Given the description of an element on the screen output the (x, y) to click on. 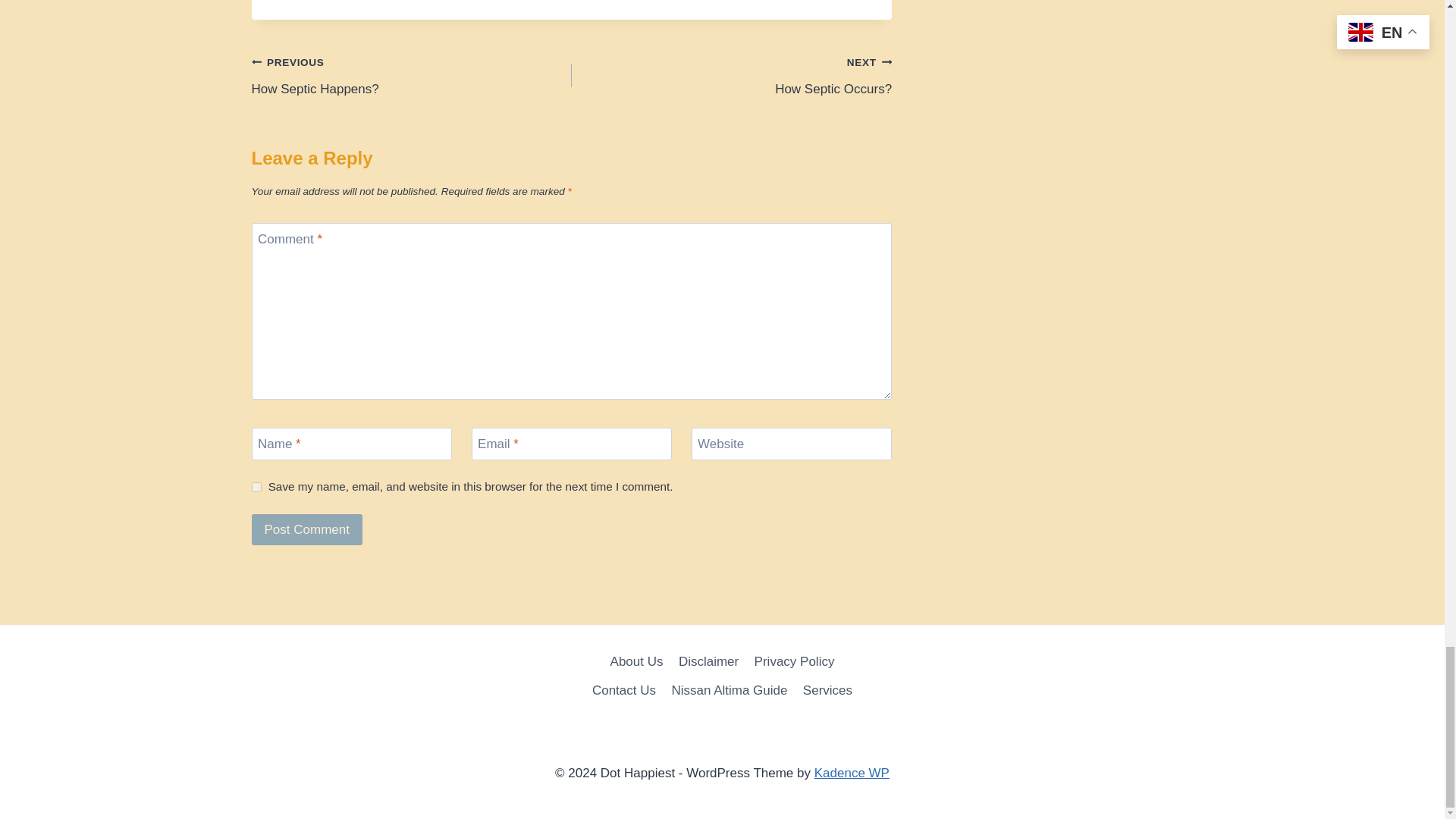
Post Comment (306, 529)
yes (256, 487)
